Given the description of an element on the screen output the (x, y) to click on. 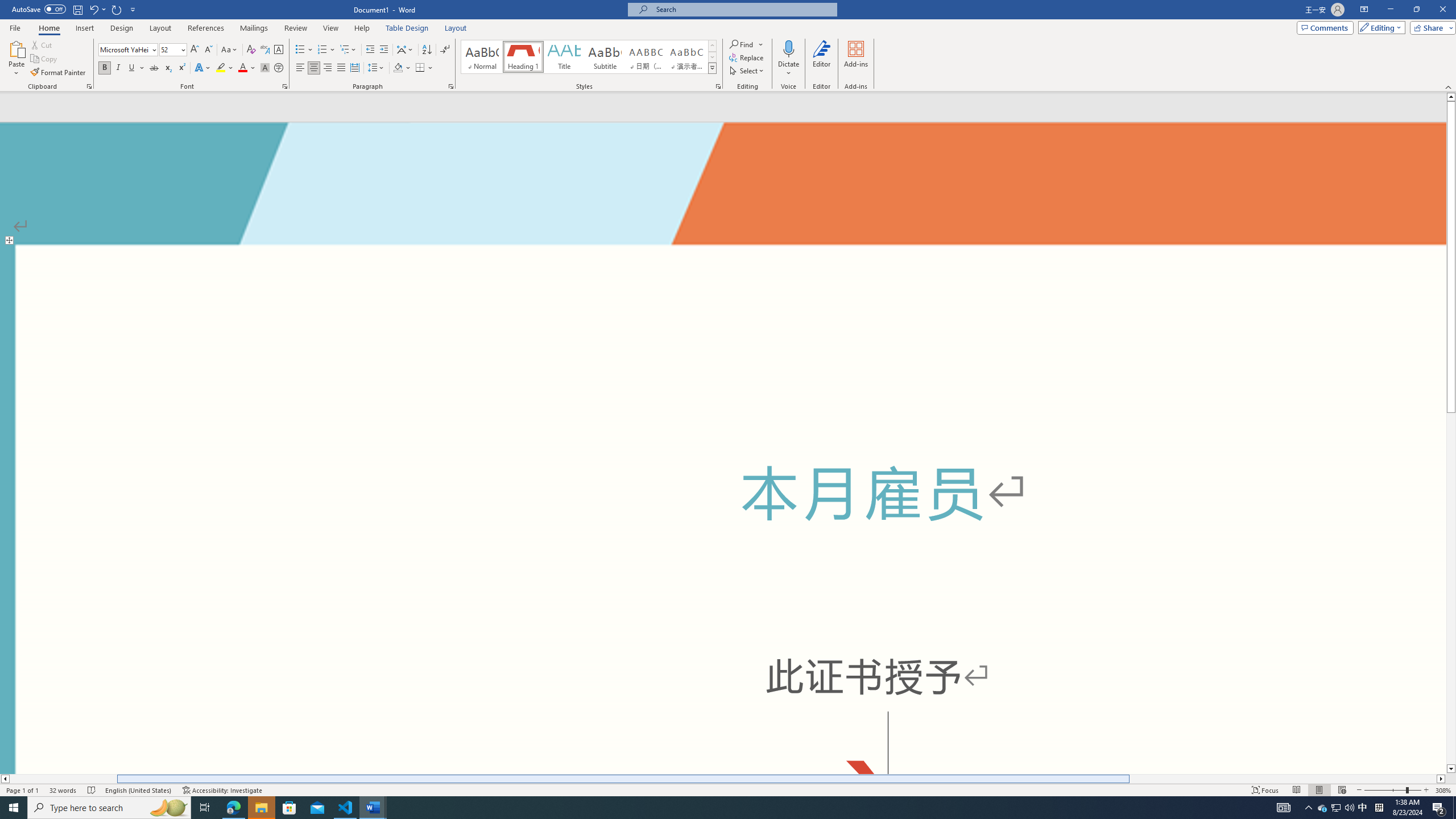
Subtitle (605, 56)
Editing (1379, 27)
Distributed (354, 67)
Styles... (717, 85)
Change Case (229, 49)
Enclose Characters... (278, 67)
Cut (42, 44)
